Given the description of an element on the screen output the (x, y) to click on. 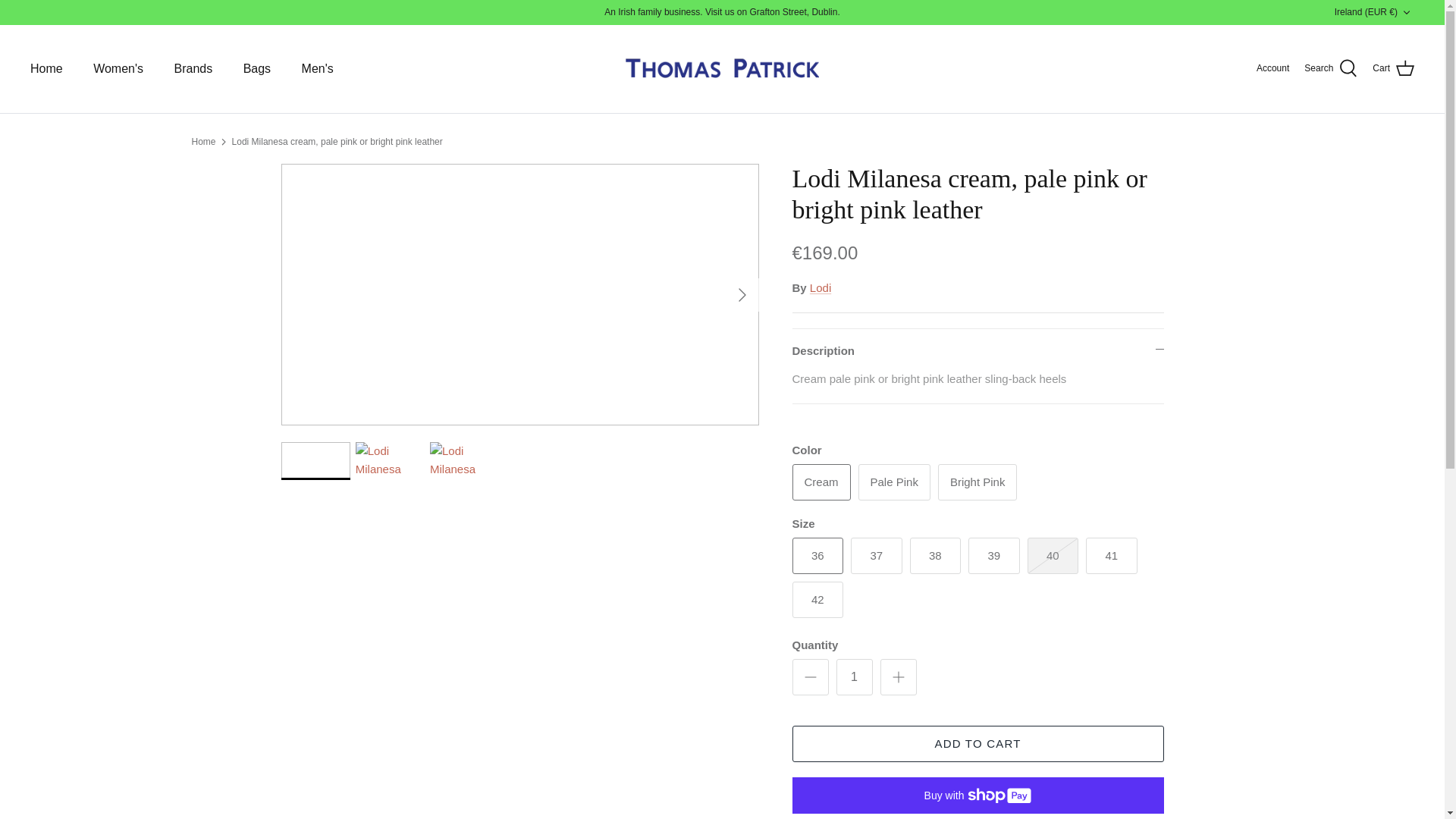
Down (1406, 12)
Minus (809, 677)
Brands (192, 69)
Account (1272, 68)
Women's (118, 69)
Thomas Patrick  (722, 69)
RIGHT (741, 294)
Bags (256, 69)
1 (853, 677)
Search (1330, 68)
Men's (317, 69)
Home (46, 69)
Cart (1393, 68)
Plus (897, 677)
